Given the description of an element on the screen output the (x, y) to click on. 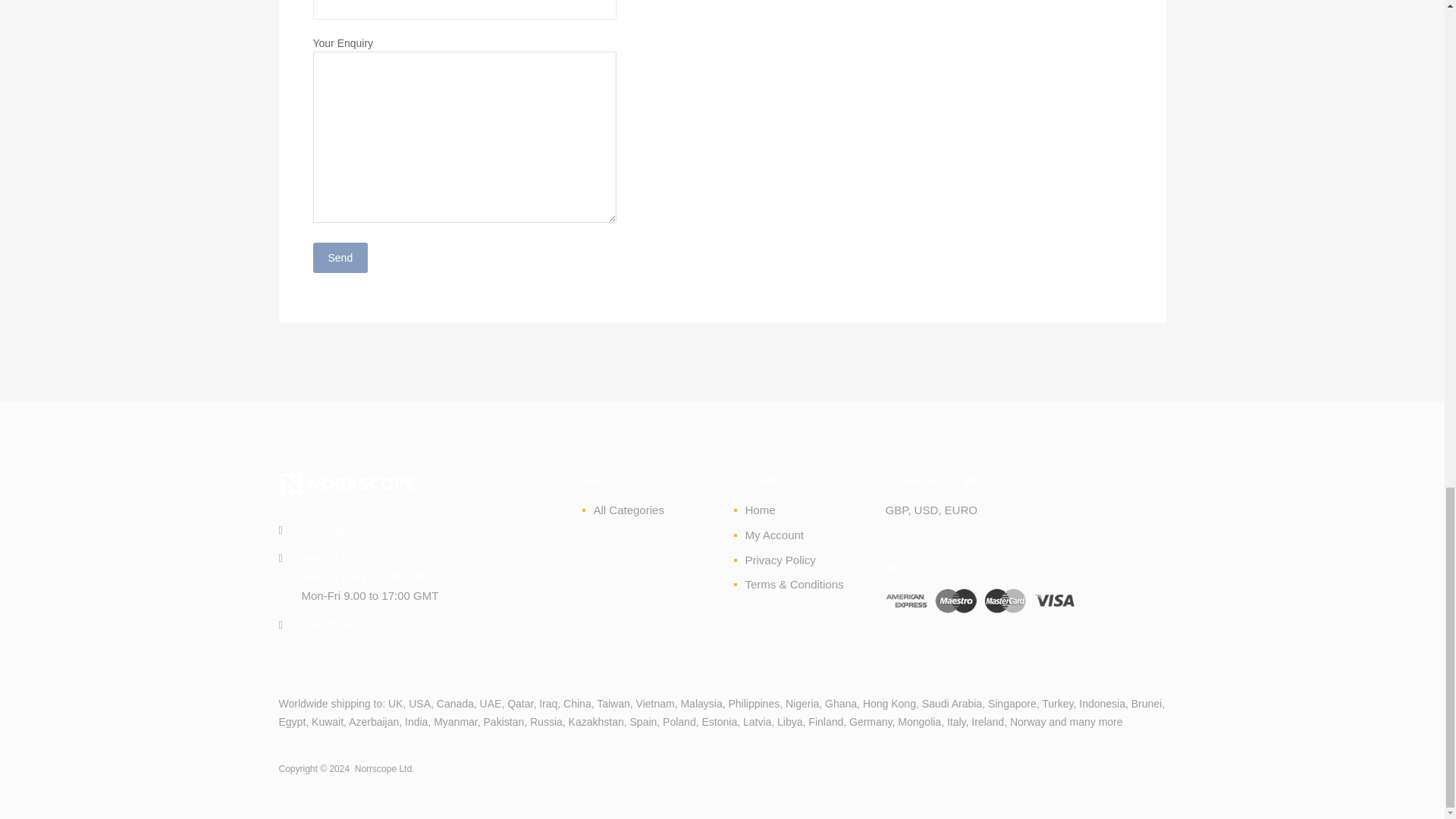
Email us (357, 624)
Send (340, 257)
